Given the description of an element on the screen output the (x, y) to click on. 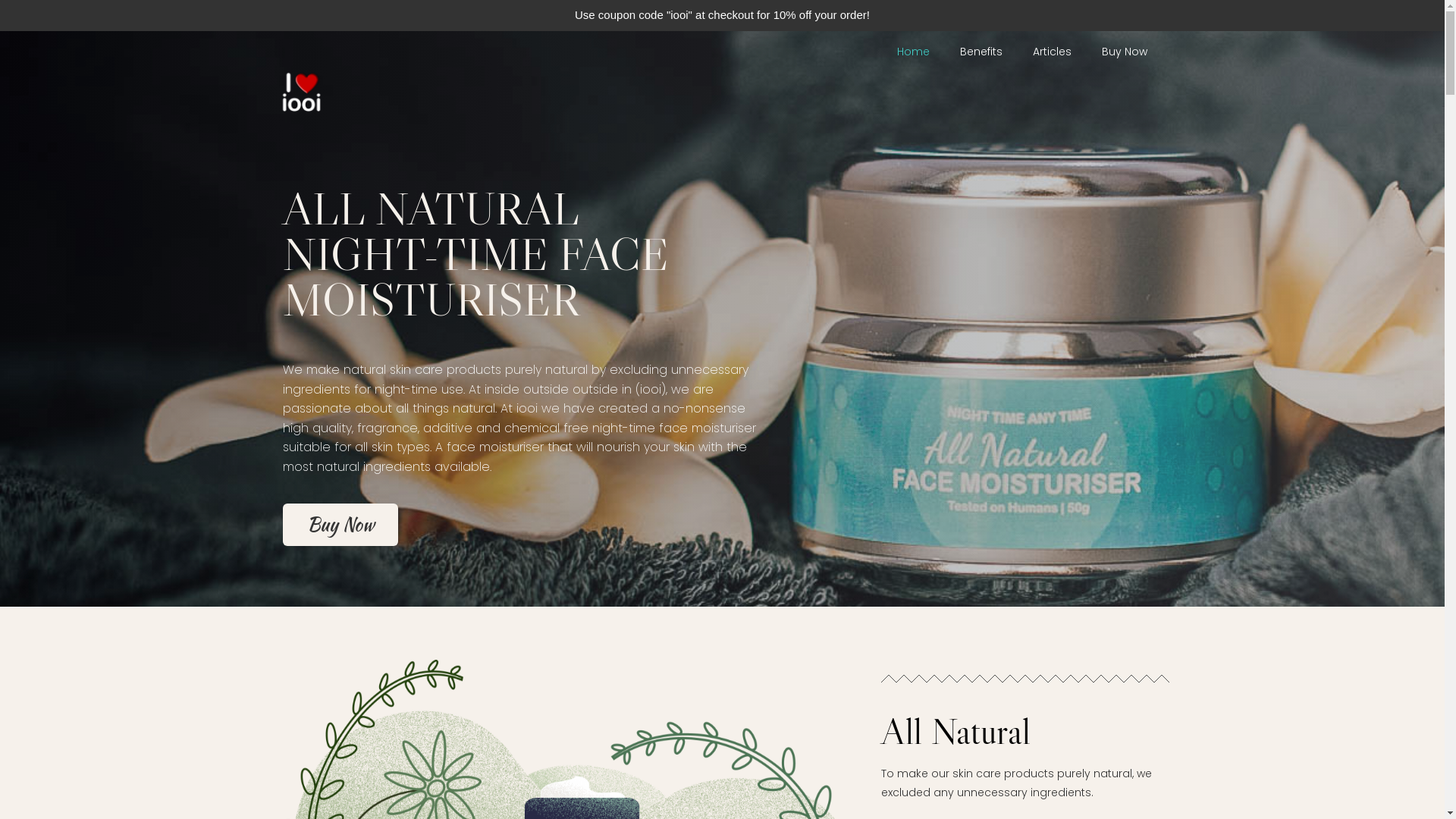
Benefits Element type: text (980, 51)
Articles Element type: text (1051, 51)
Home Element type: text (912, 51)
Buy Now Element type: text (339, 524)
Buy Now Element type: text (1123, 51)
